Given the description of an element on the screen output the (x, y) to click on. 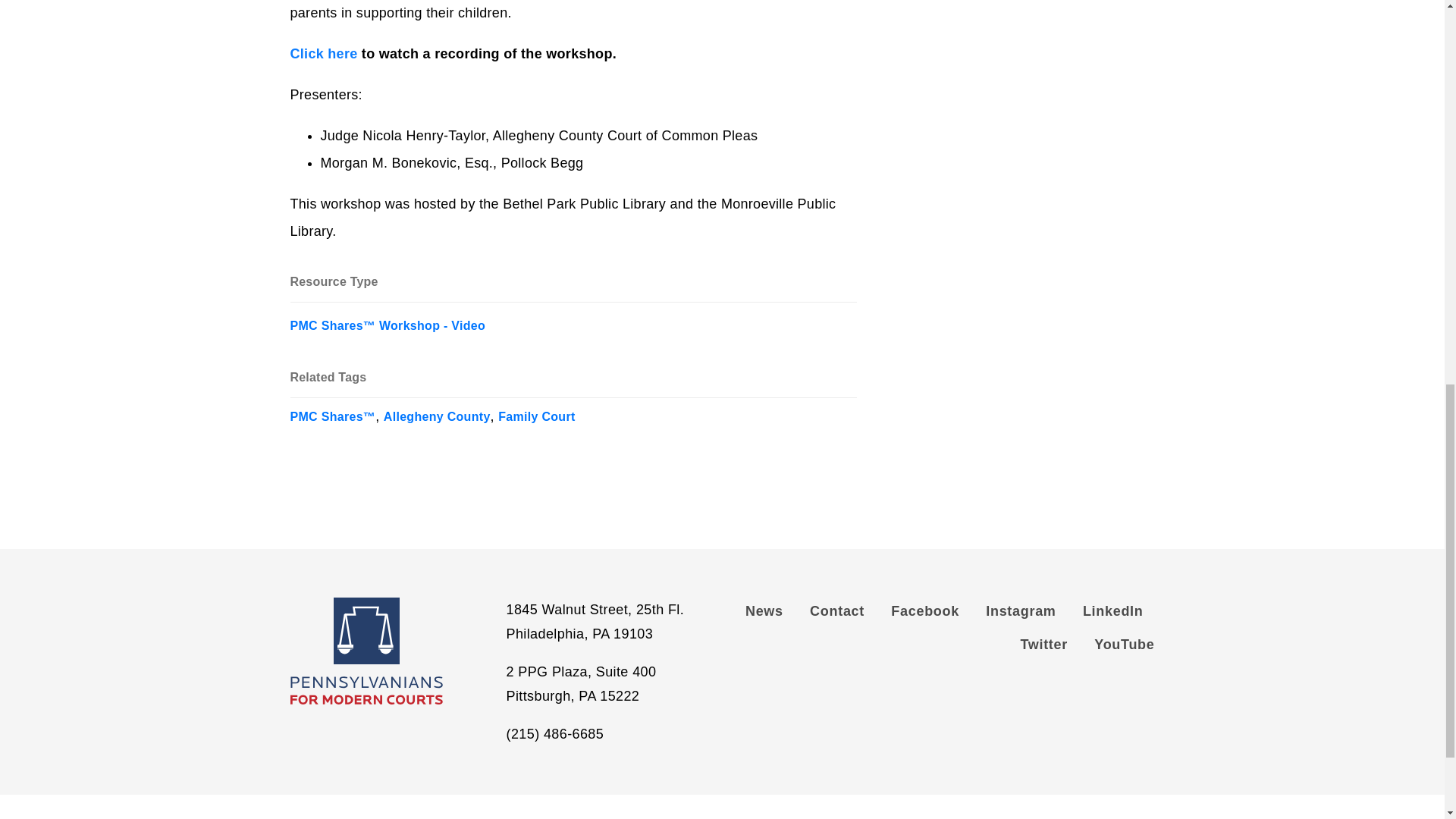
Click here (322, 53)
Family Court (536, 411)
Contact (836, 614)
Facebook (925, 614)
News (769, 614)
Twitter (1043, 648)
Instagram (1020, 614)
Allegheny County (437, 411)
LinkedIn (1112, 614)
